Given the description of an element on the screen output the (x, y) to click on. 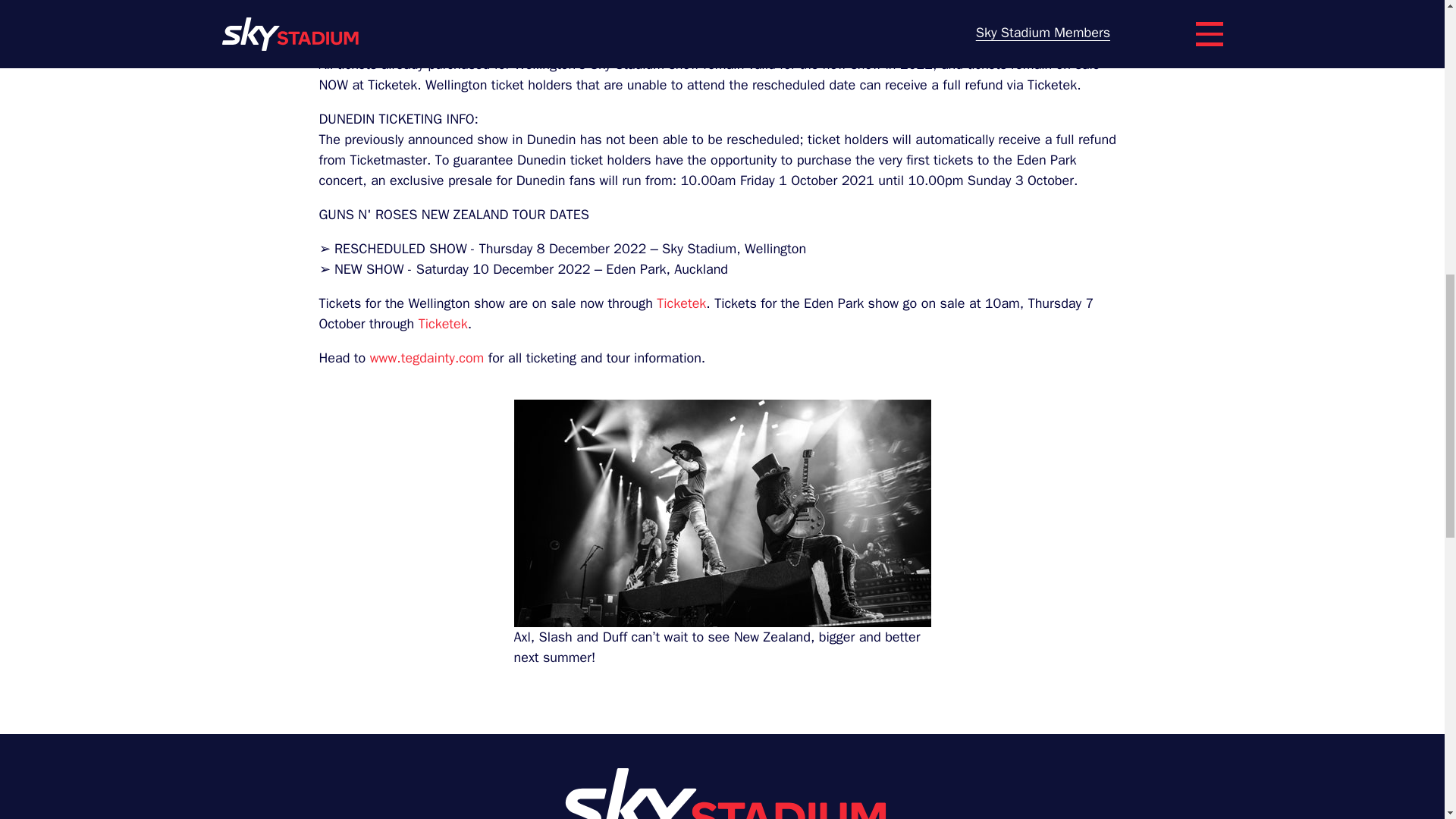
Ticketek (443, 323)
www.tegdainty.com (426, 357)
Ticketek (681, 303)
